Given the description of an element on the screen output the (x, y) to click on. 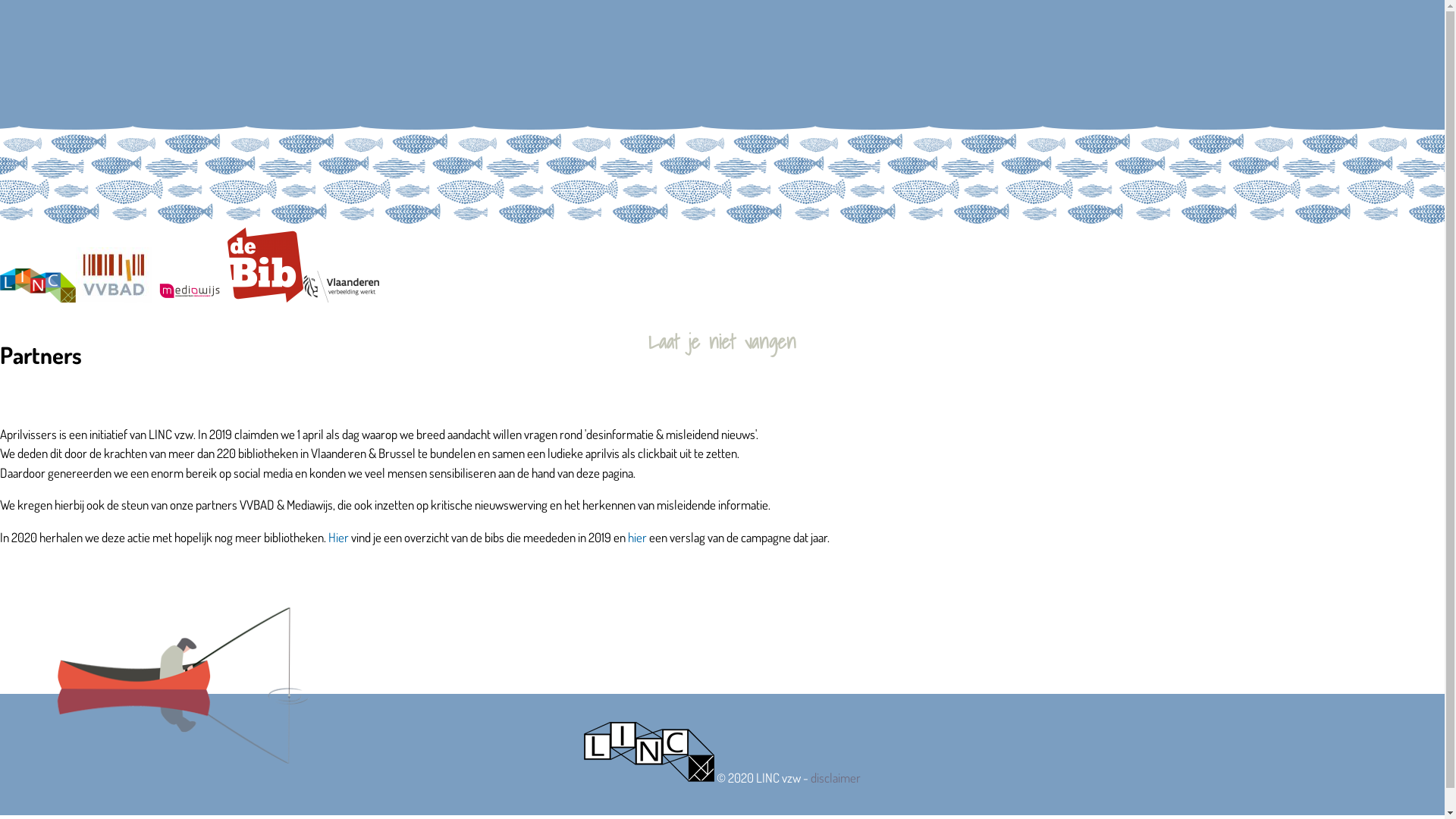
www.vvbad.be Element type: hover (113, 274)
de aprilvissers Element type: text (722, 277)
www.linc-vzw.be Element type: hover (37, 285)
hier Element type: text (636, 537)
Hier Element type: text (338, 537)
Skip to main content Element type: text (48, 0)
disclaimer Element type: text (835, 777)
